Given the description of an element on the screen output the (x, y) to click on. 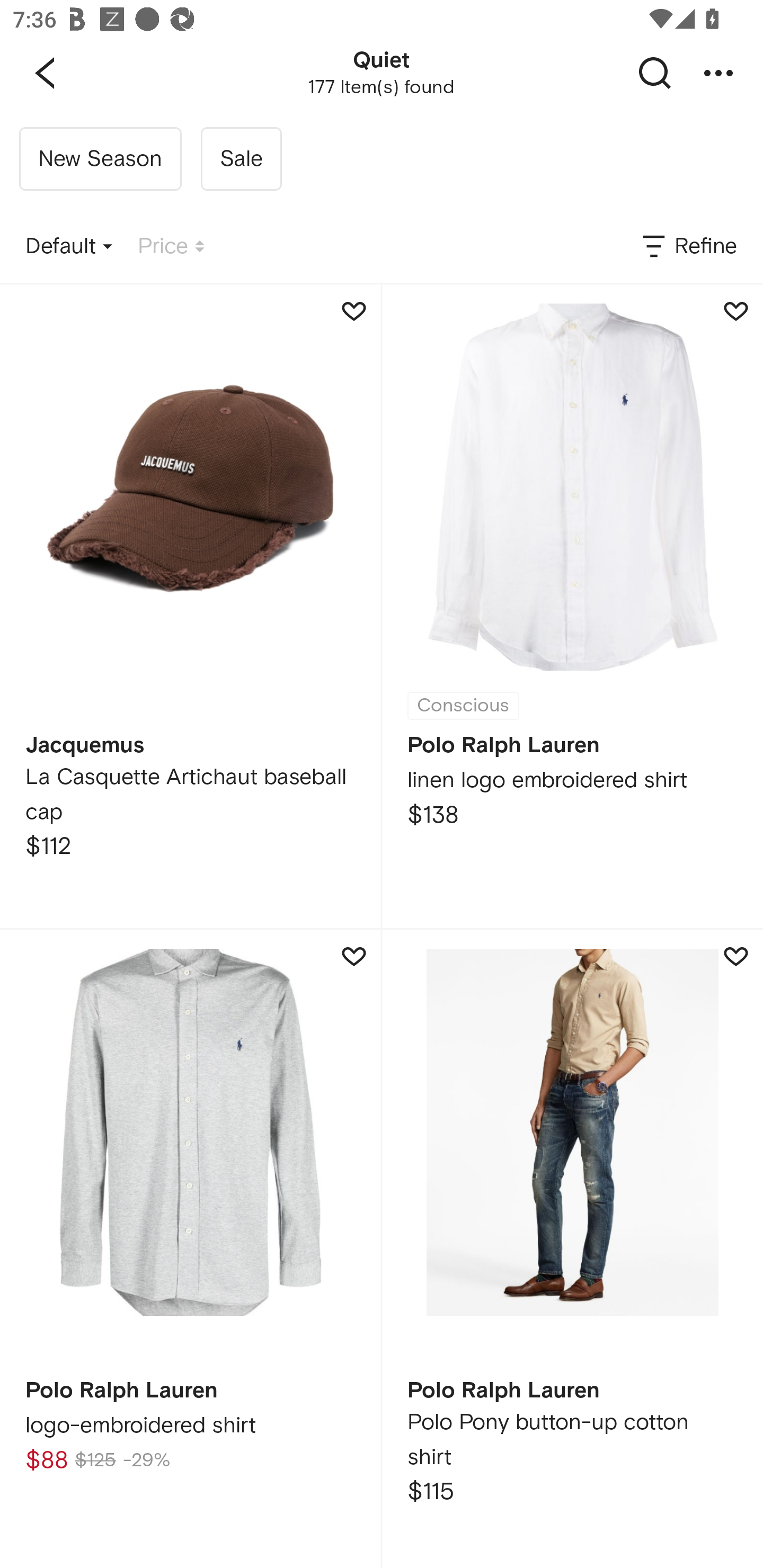
New Season (100, 158)
Sale (240, 158)
Default (68, 246)
Price (171, 246)
Refine (688, 246)
Jacquemus La Casquette Artichaut baseball cap $112 (190, 605)
